Given the description of an element on the screen output the (x, y) to click on. 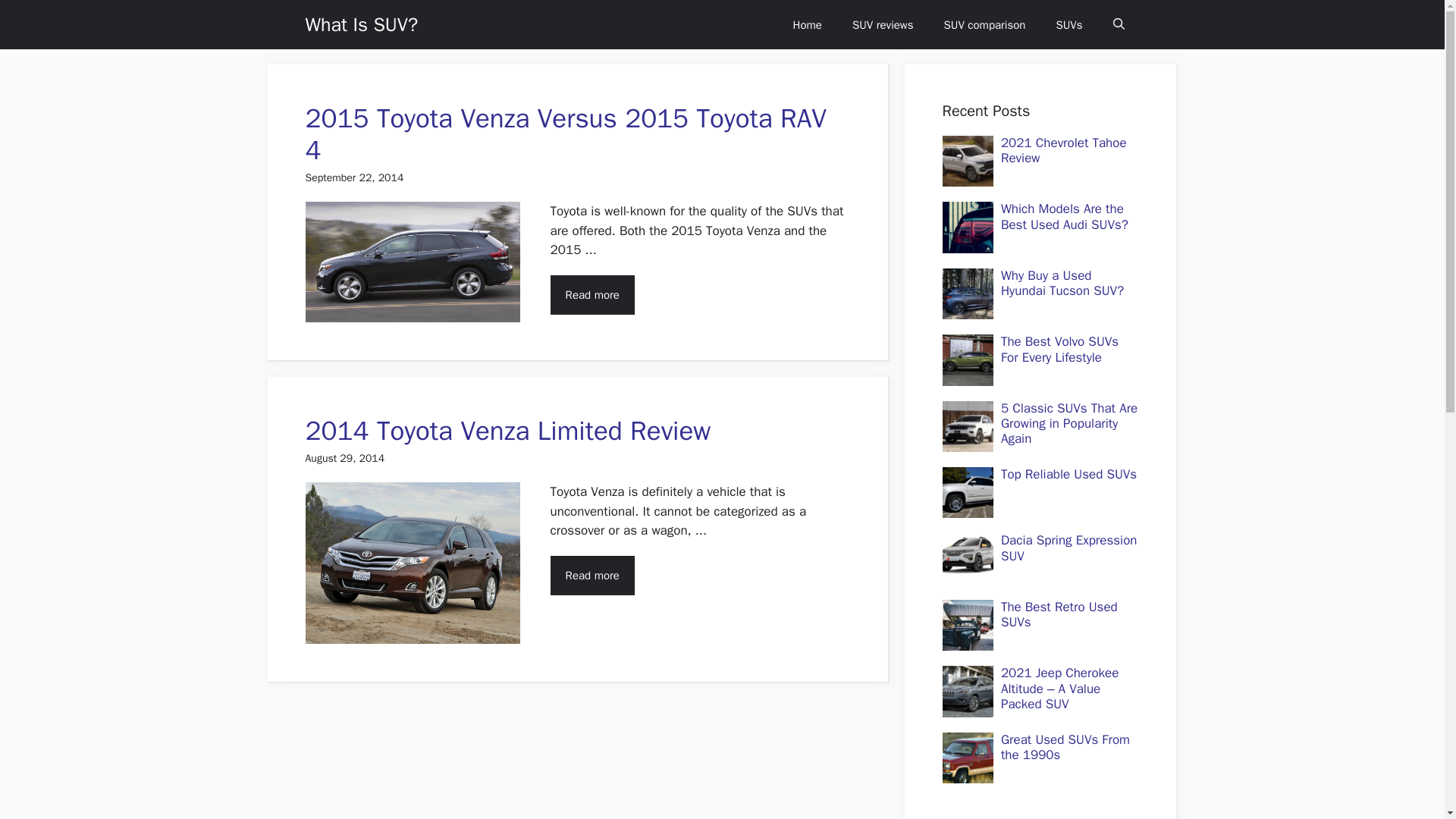
SUV reviews (882, 23)
The Best Volvo SUVs For Every Lifestyle (1059, 348)
SUVs (1069, 23)
What Is SUV? (360, 24)
SUV comparison (984, 23)
Why Buy a Used Hyundai Tucson SUV? (1062, 282)
2014 Toyota Venza Limited Review (507, 430)
Great Used SUVs From the 1990s (1065, 747)
The Best Retro Used SUVs (1059, 613)
5 Classic SUVs That Are Growing in Popularity Again (1069, 423)
Home (807, 23)
2015 Toyota Venza Versus 2015 Toyota RAV 4 (564, 134)
Top Reliable Used SUVs (1069, 474)
Read more (592, 576)
Read more (592, 294)
